Given the description of an element on the screen output the (x, y) to click on. 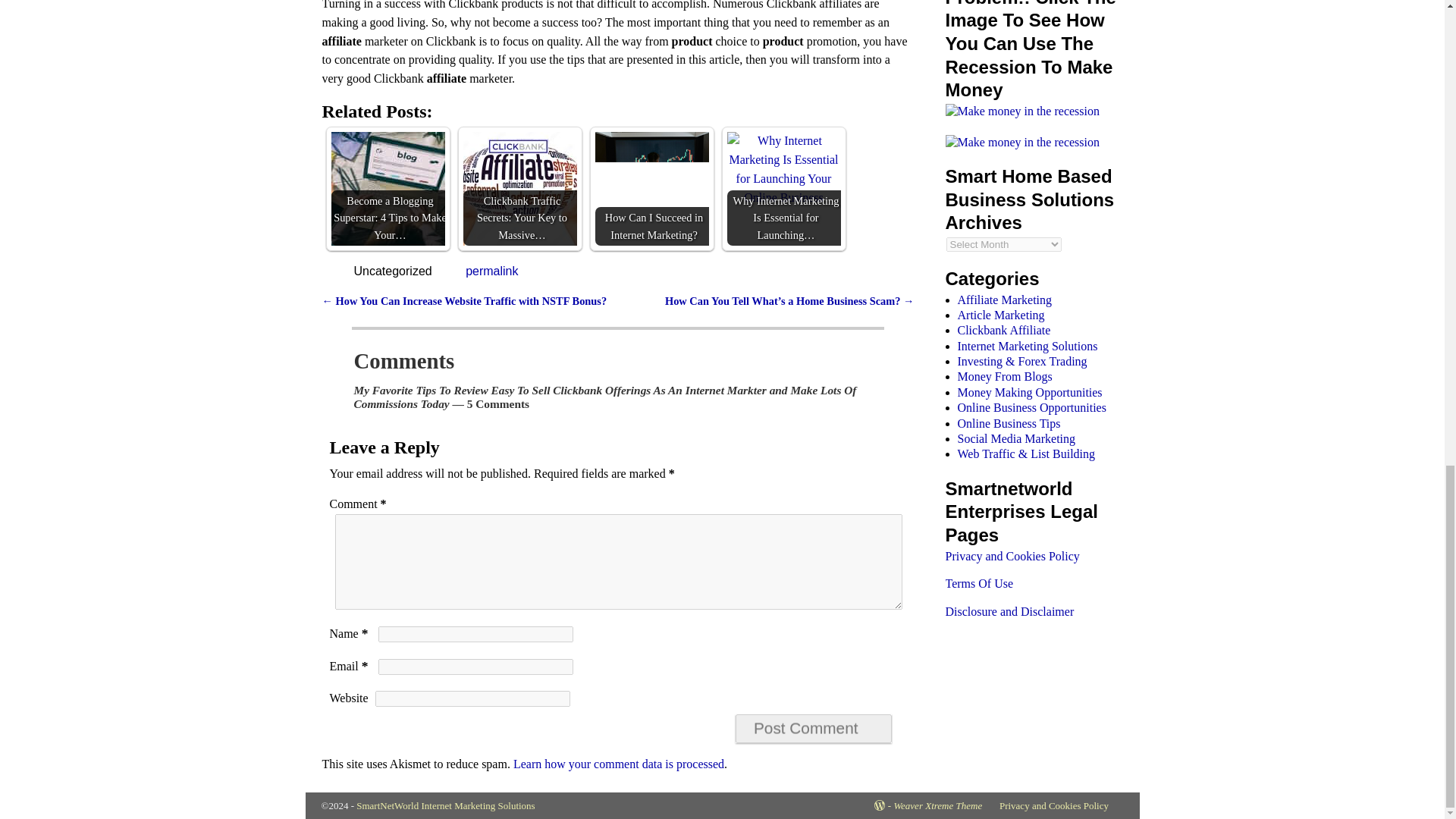
How Can I Succeed in Internet Marketing? (650, 169)
Post Comment (813, 728)
permalink (491, 270)
Weaver Xtreme Theme (937, 805)
Learn how your comment data is processed (618, 763)
How Can I Succeed in Internet Marketing? (650, 188)
Proudly powered by WordPress (883, 805)
Post Comment (813, 728)
SmartNetWorld Internet Marketing Solutions (445, 805)
